Given the description of an element on the screen output the (x, y) to click on. 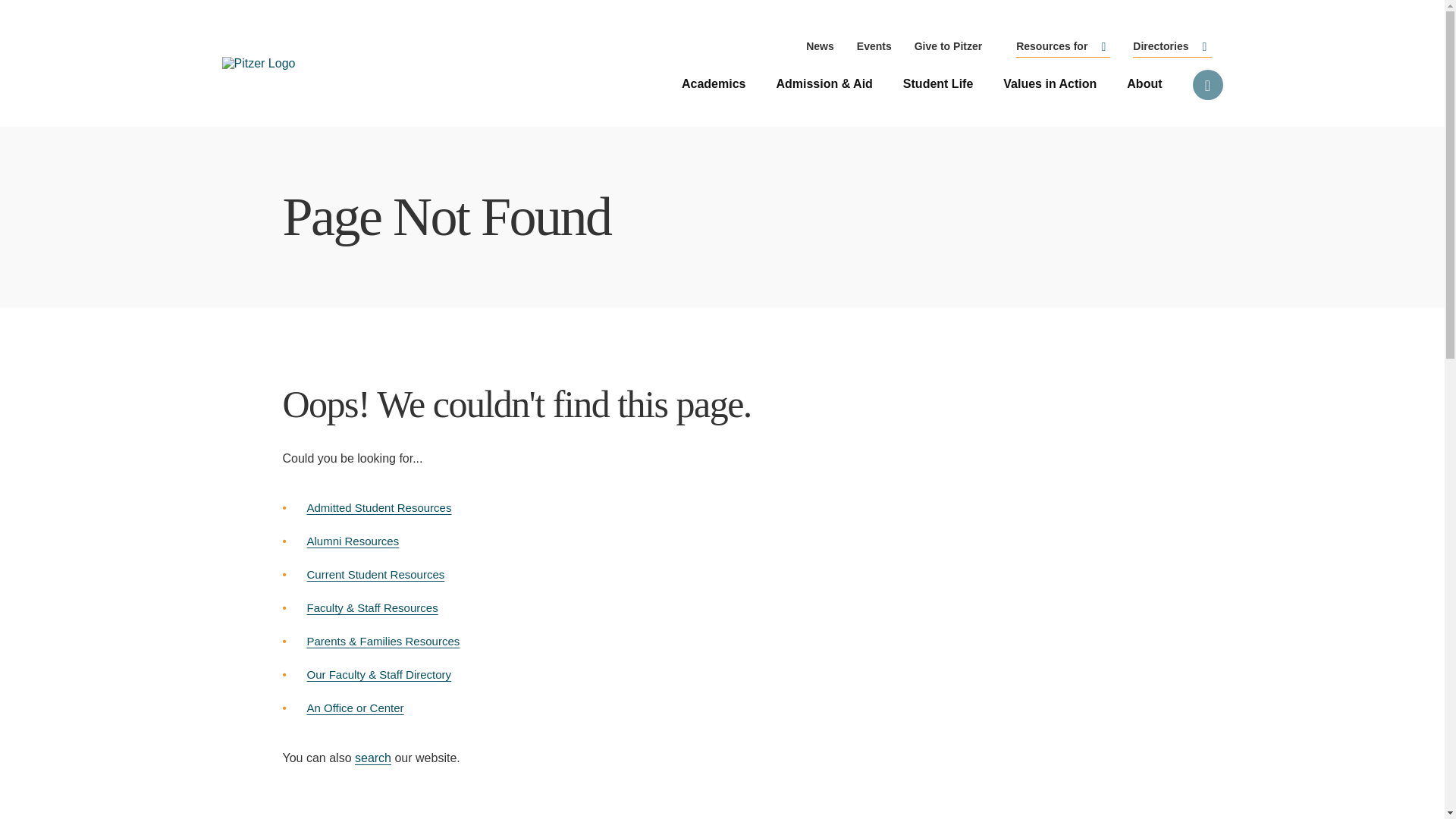
Academics (714, 83)
Student Life (937, 83)
Current Students (374, 574)
Faculty and Staff (371, 607)
Alumni (351, 540)
Give to Pitzer (947, 46)
Open the search panel (1207, 84)
Admitted Students (378, 507)
News (820, 46)
